Given the description of an element on the screen output the (x, y) to click on. 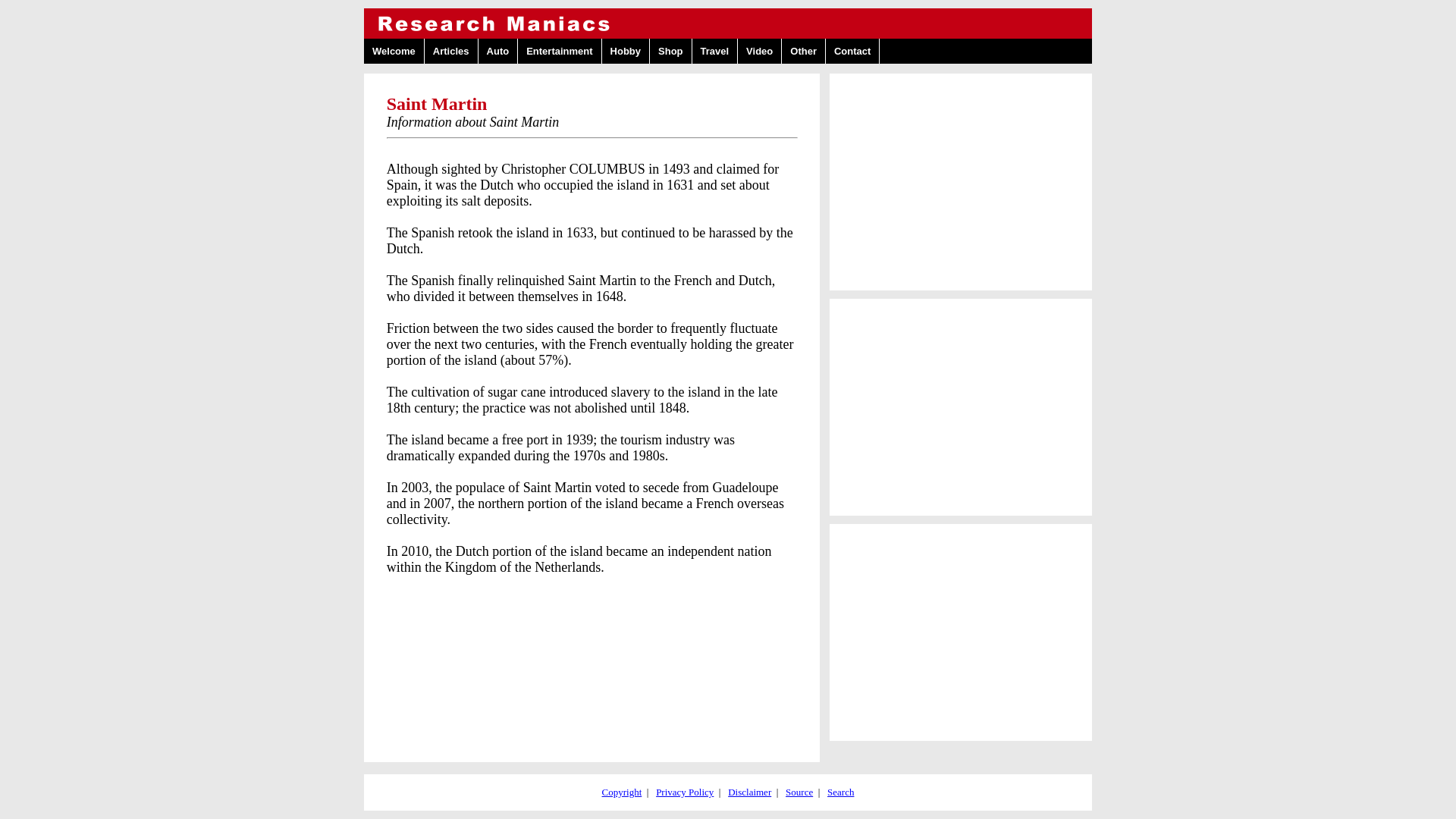
Contact (852, 50)
Hobby (625, 50)
Privacy Policy (684, 791)
Advertisement (960, 182)
Video (759, 50)
Source (799, 791)
Advertisement (960, 632)
Copyright (622, 791)
Shop (671, 50)
Search (840, 791)
Research Maniacs Banner (728, 23)
Welcome (394, 50)
Articles (452, 50)
Entertainment (559, 50)
Travel (715, 50)
